Given the description of an element on the screen output the (x, y) to click on. 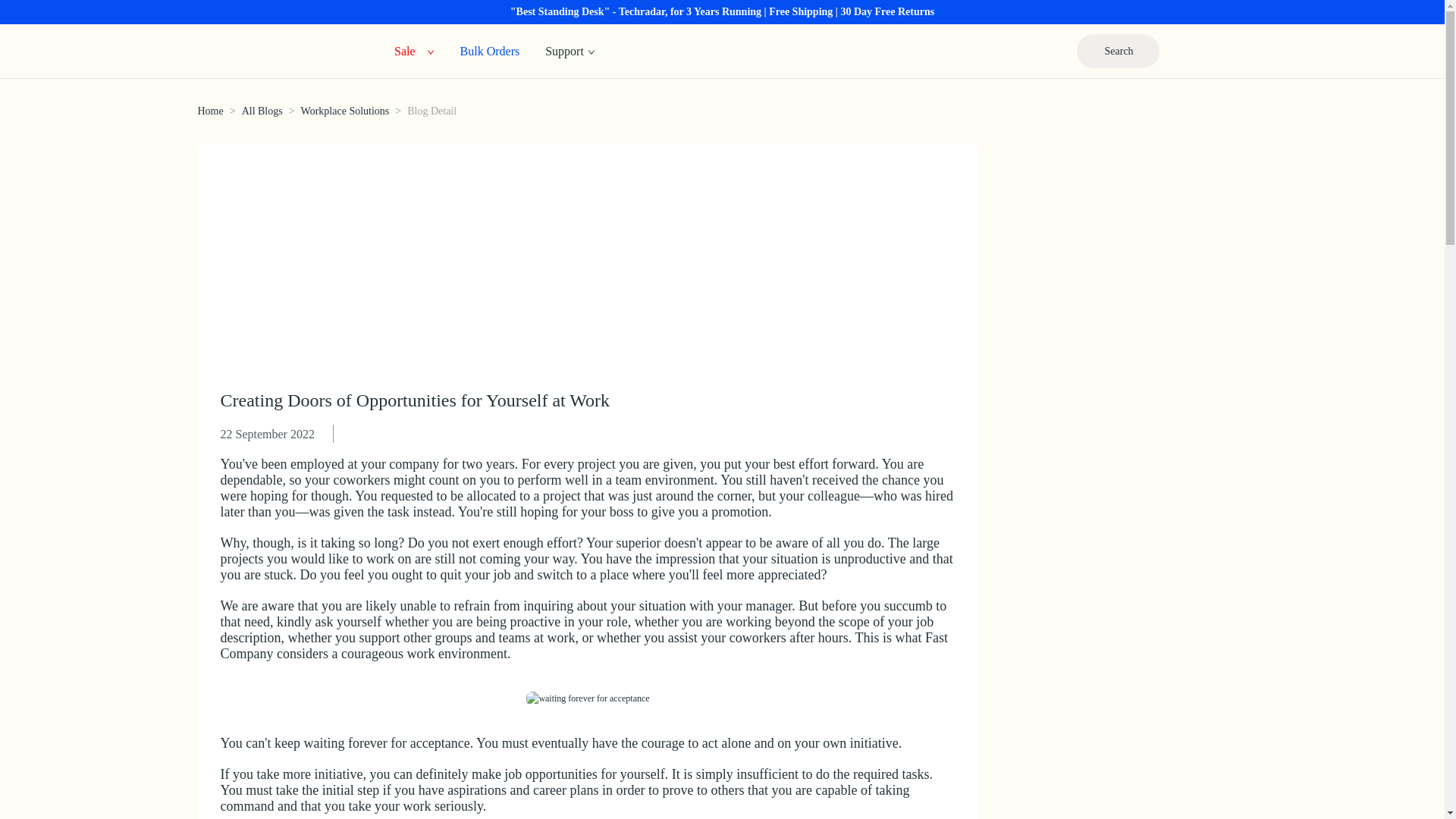
Workplace Solutions (345, 111)
Sale (405, 50)
 waiting forever for acceptance (587, 698)
Home (209, 111)
All Blogs (261, 111)
Bulk Orders (489, 50)
